Given the description of an element on the screen output the (x, y) to click on. 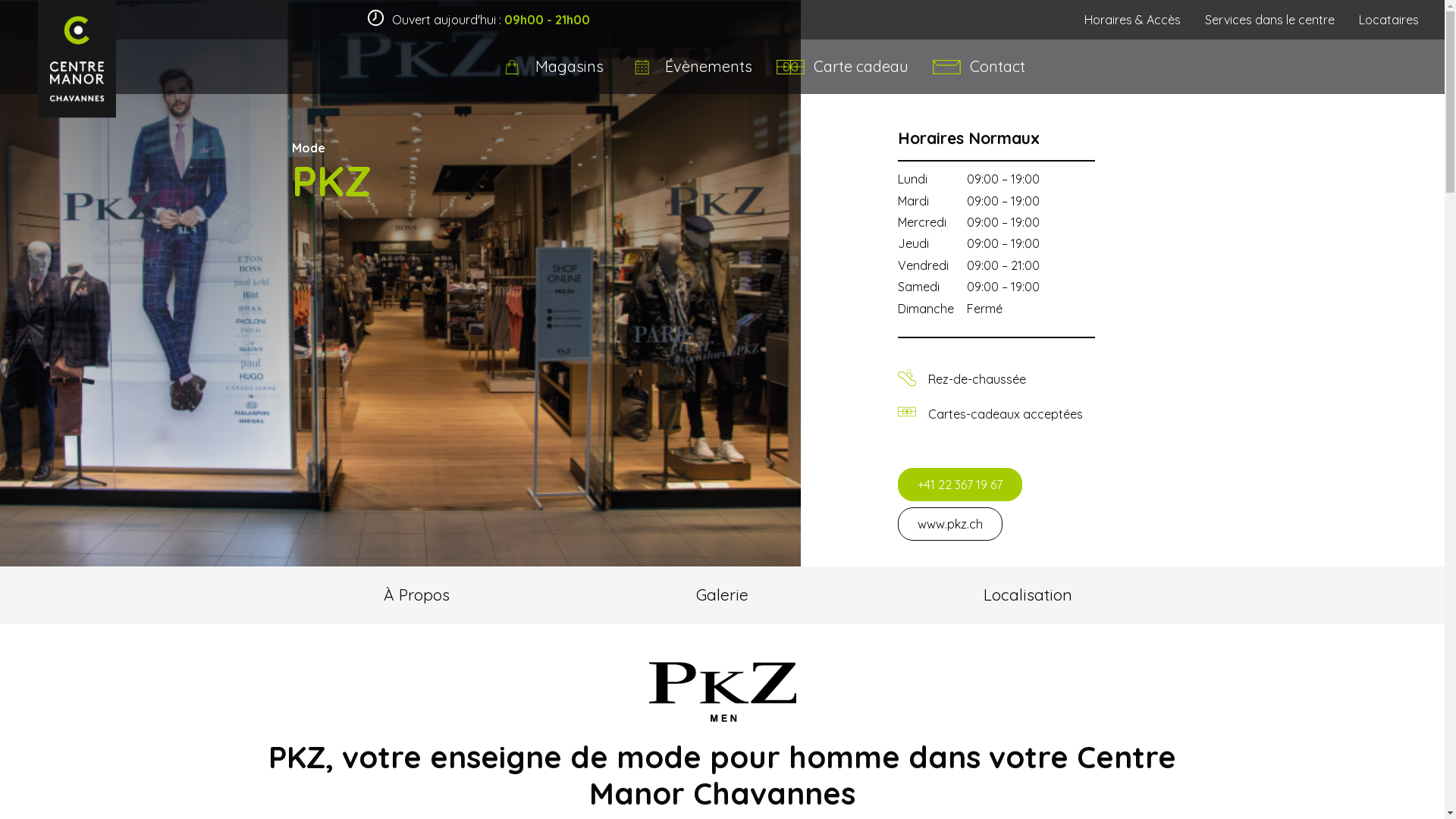
Services dans le centre Element type: text (1269, 19)
Localisation Element type: text (1027, 594)
Locataires Element type: text (1388, 19)
+41 22 367 19 67 Element type: text (959, 484)
Magasins Element type: text (550, 66)
www.pkz.ch Element type: text (949, 523)
Carte cadeau Element type: text (842, 66)
Contact Element type: text (978, 66)
Galerie Element type: text (722, 594)
